Given the description of an element on the screen output the (x, y) to click on. 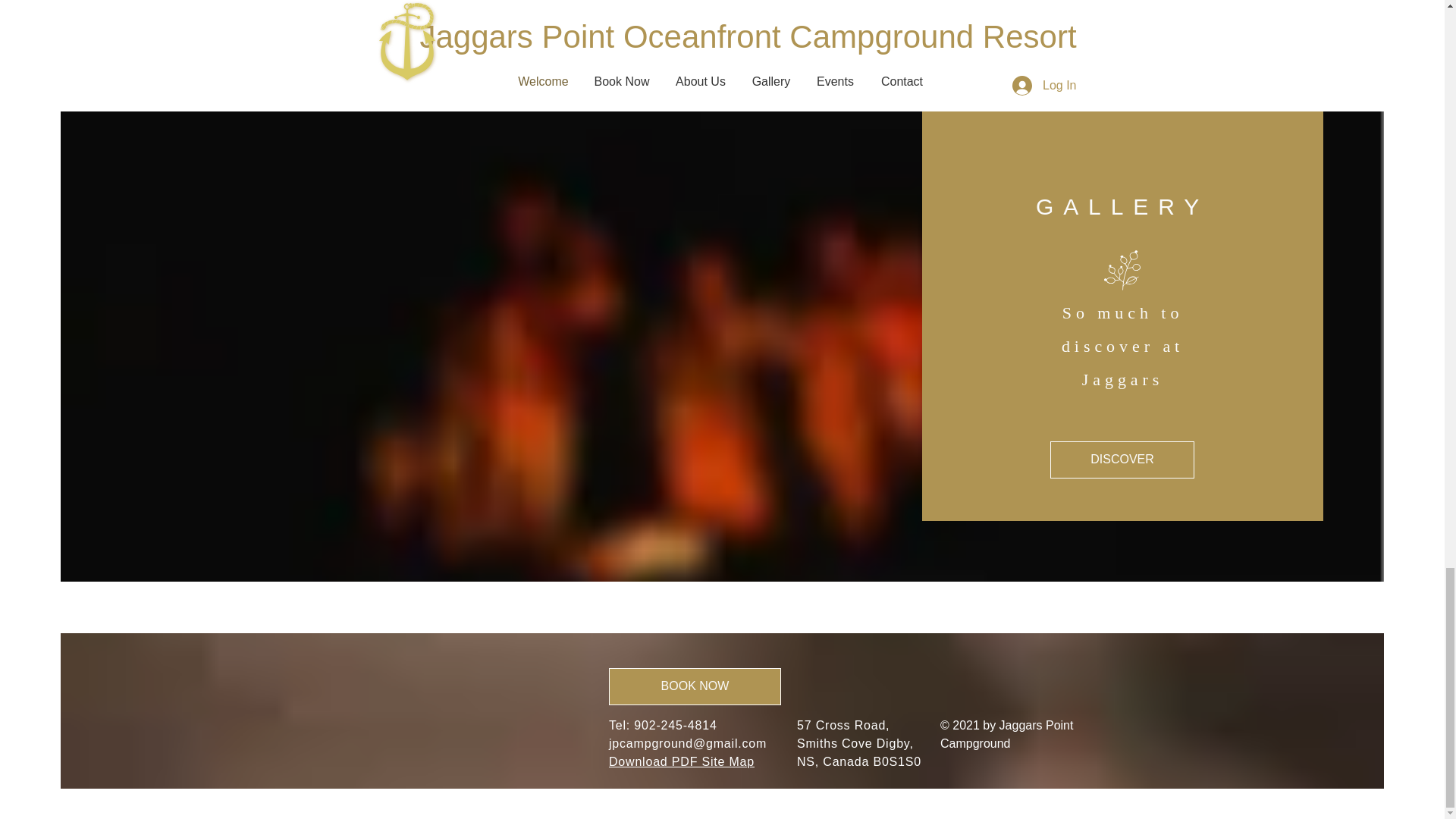
Download PDF Site Map (681, 761)
BOOK NOW (694, 686)
DISCOVER (1121, 459)
